Given the description of an element on the screen output the (x, y) to click on. 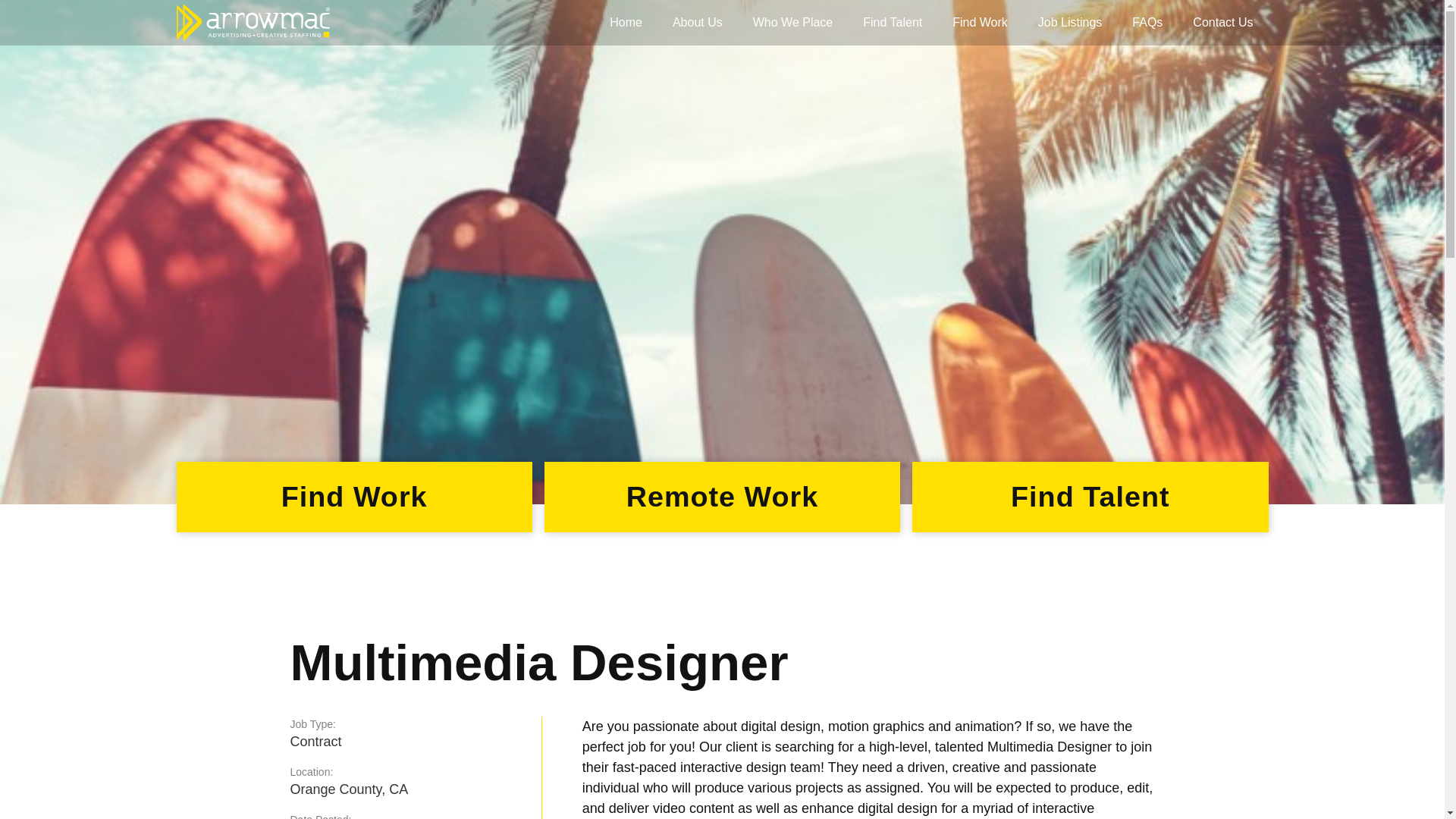
Find Talent (892, 22)
Find Work (353, 496)
Who We Place (793, 22)
FAQs (1146, 22)
Find Talent (1090, 496)
Home (626, 22)
About Us (698, 22)
Job Listings (1070, 22)
Find Work (980, 22)
Remote Work (721, 496)
Contact Us (1222, 22)
